Given the description of an element on the screen output the (x, y) to click on. 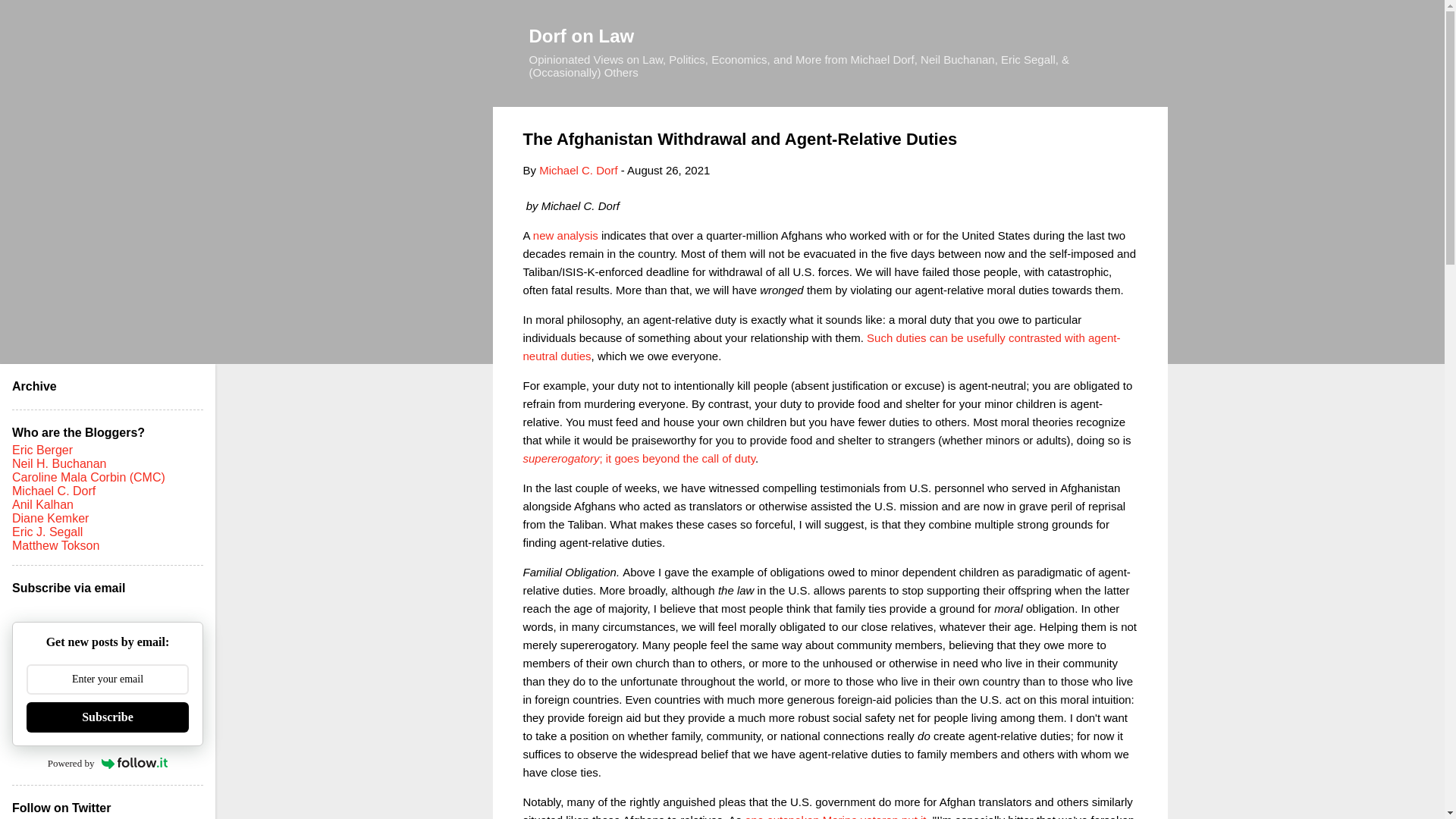
Dorf on Law (581, 35)
permanent link (668, 169)
Michael C. Dorf (577, 169)
Search (29, 18)
author profile (577, 169)
August 26, 2021 (668, 169)
supererogatory; it goes beyond the call of duty (638, 458)
new analysis (565, 235)
one outspoken Marine veteran put it (835, 816)
